Given the description of an element on the screen output the (x, y) to click on. 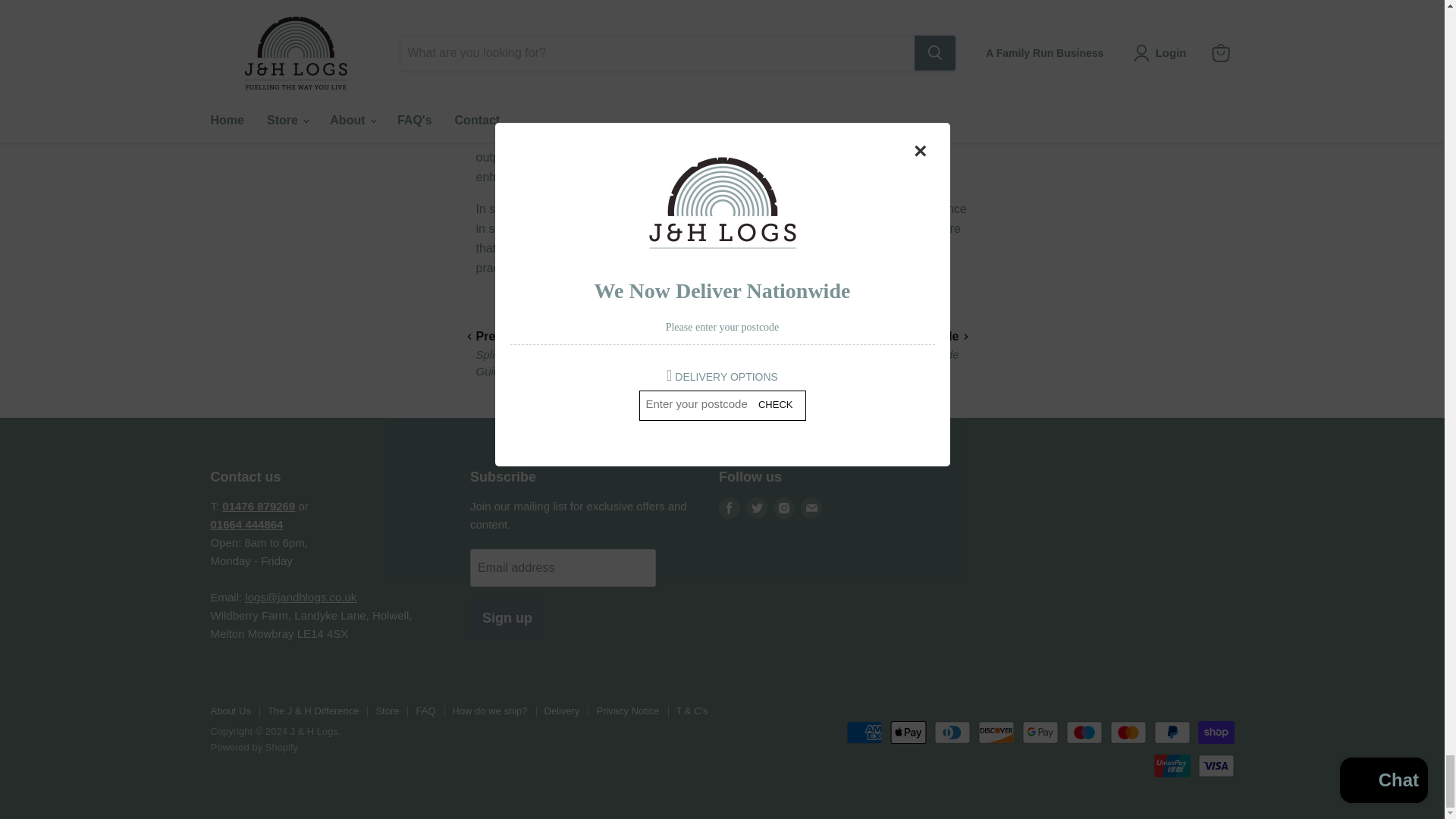
tel:01476879269 (258, 505)
Facebook (729, 507)
Apple Pay (907, 732)
Twitter (756, 507)
tel:01664444864 (247, 523)
Google Pay (1040, 732)
Diners Club (952, 732)
Email (811, 507)
American Express (863, 732)
Instagram (783, 507)
Discover (996, 732)
email J and H Logs (300, 596)
